Given the description of an element on the screen output the (x, y) to click on. 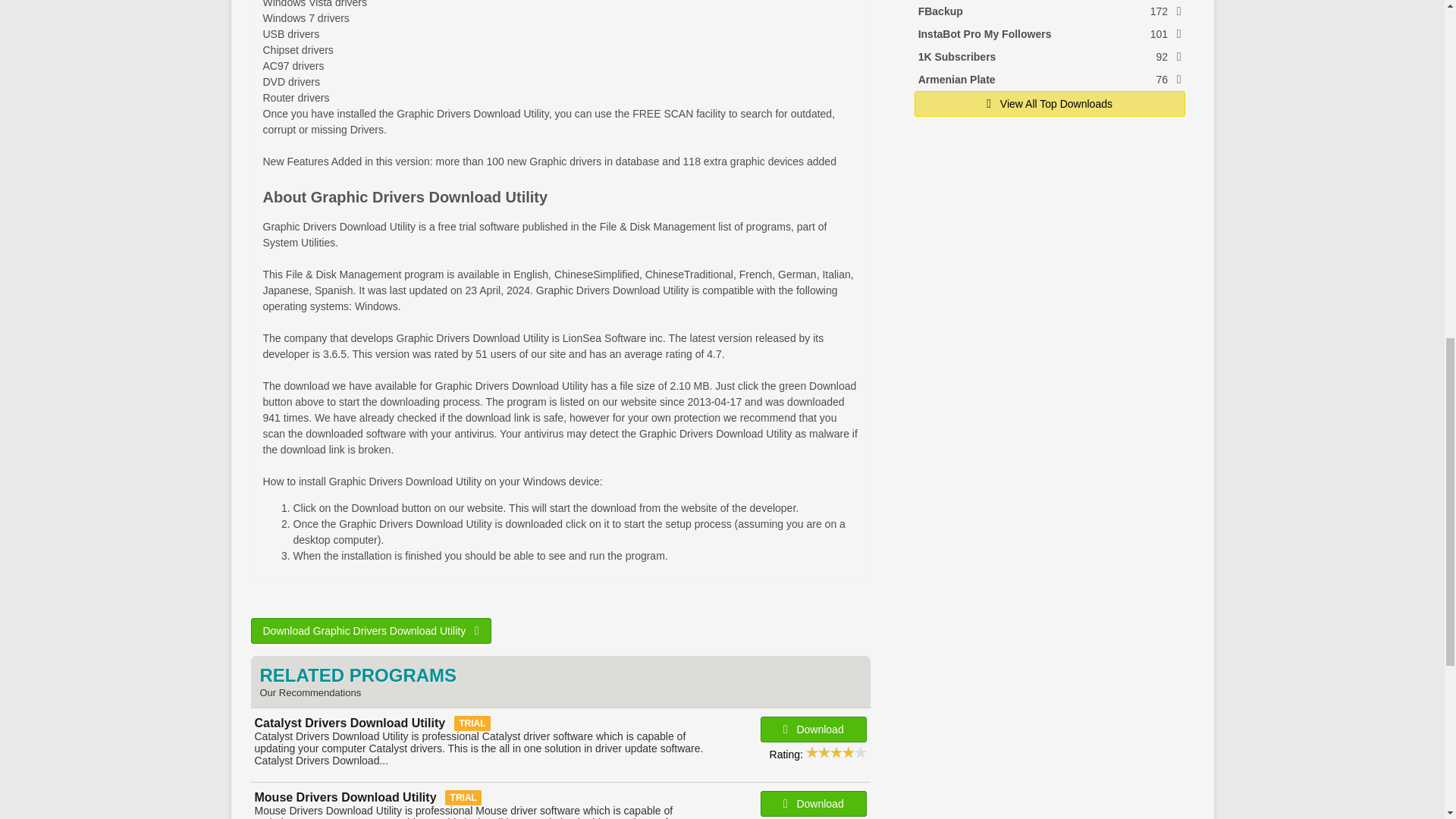
  Download (813, 729)
Download Graphic Drivers Download Utility   (1049, 56)
  Download (1049, 33)
